Given the description of an element on the screen output the (x, y) to click on. 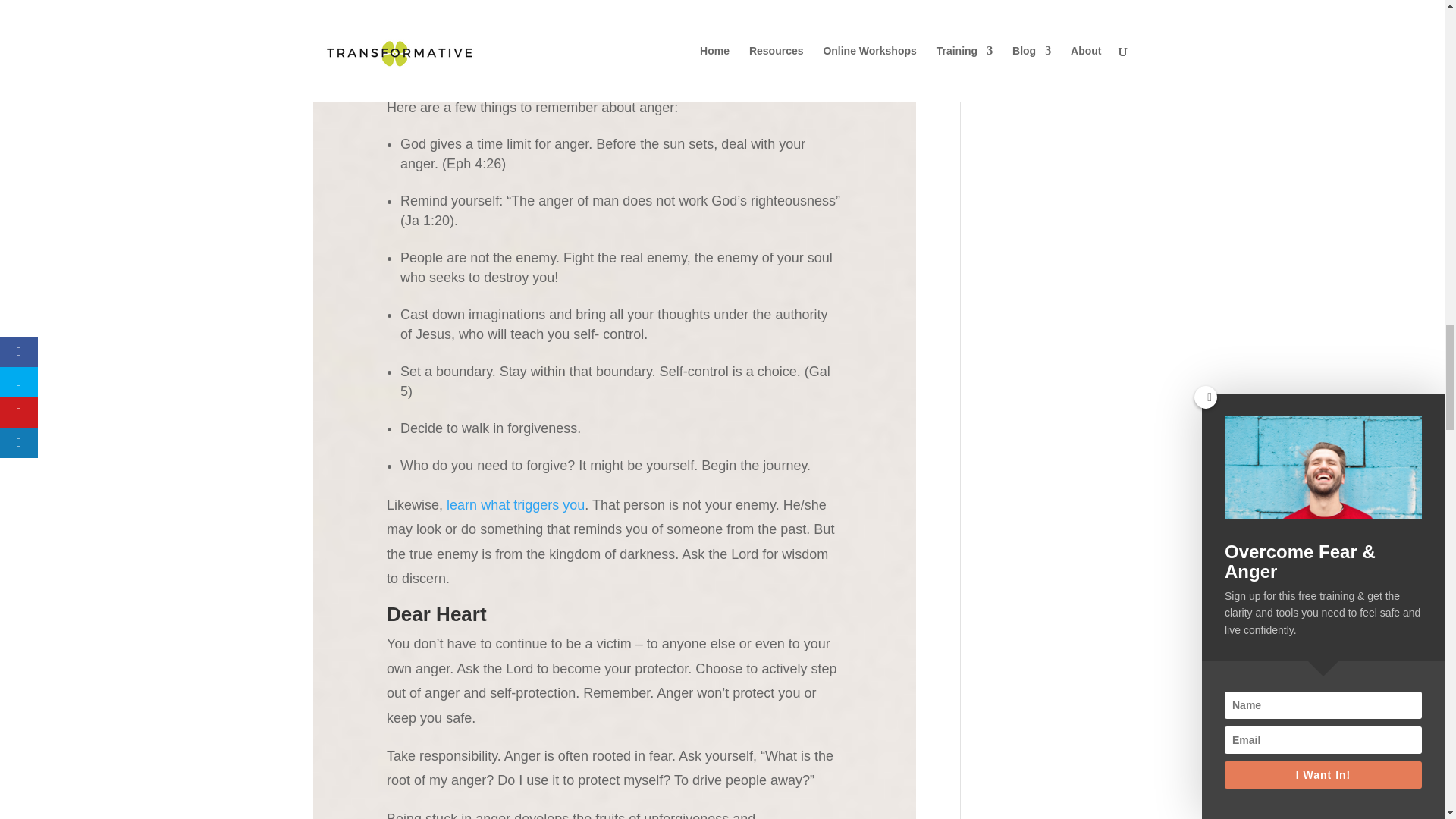
learn what triggers you (515, 504)
